Given the description of an element on the screen output the (x, y) to click on. 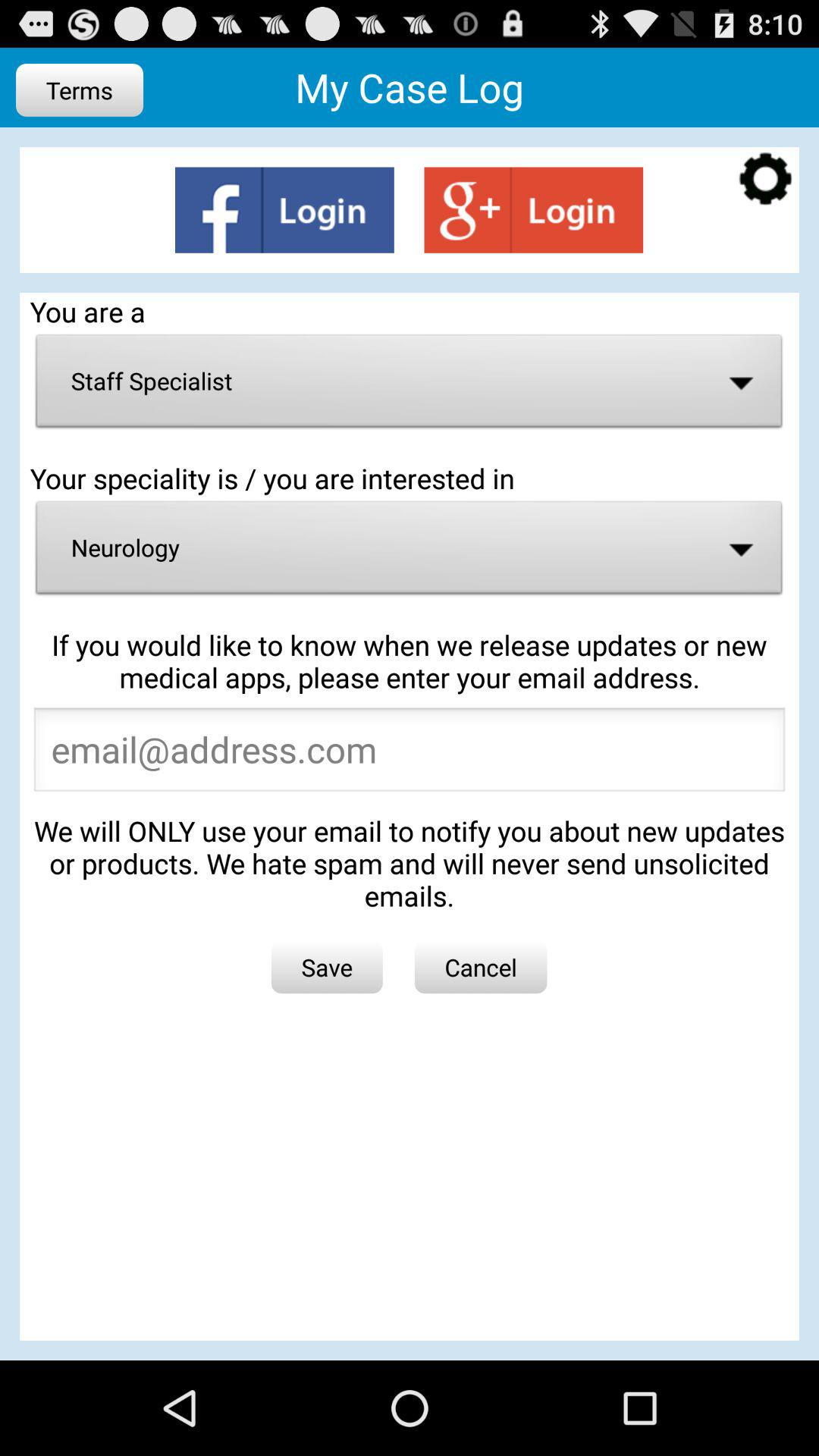
login with google+ (533, 210)
